Given the description of an element on the screen output the (x, y) to click on. 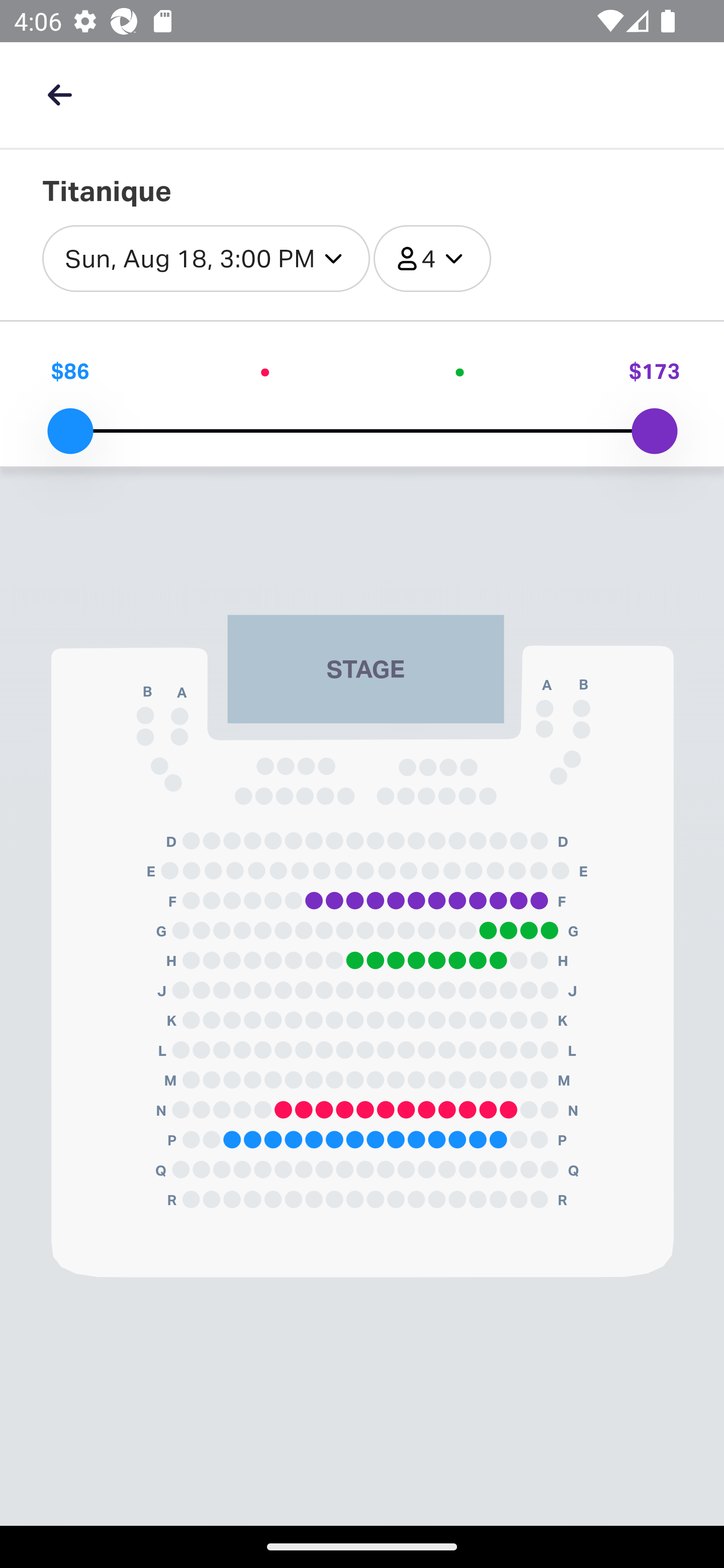
back button (59, 94)
Sun, Aug 18, 3:00 PM (205, 259)
4 (432, 259)
$86 (70, 370)
• (264, 370)
• (459, 370)
$173 (653, 370)
0.0 (69, 431)
100.0 (654, 431)
